Given the description of an element on the screen output the (x, y) to click on. 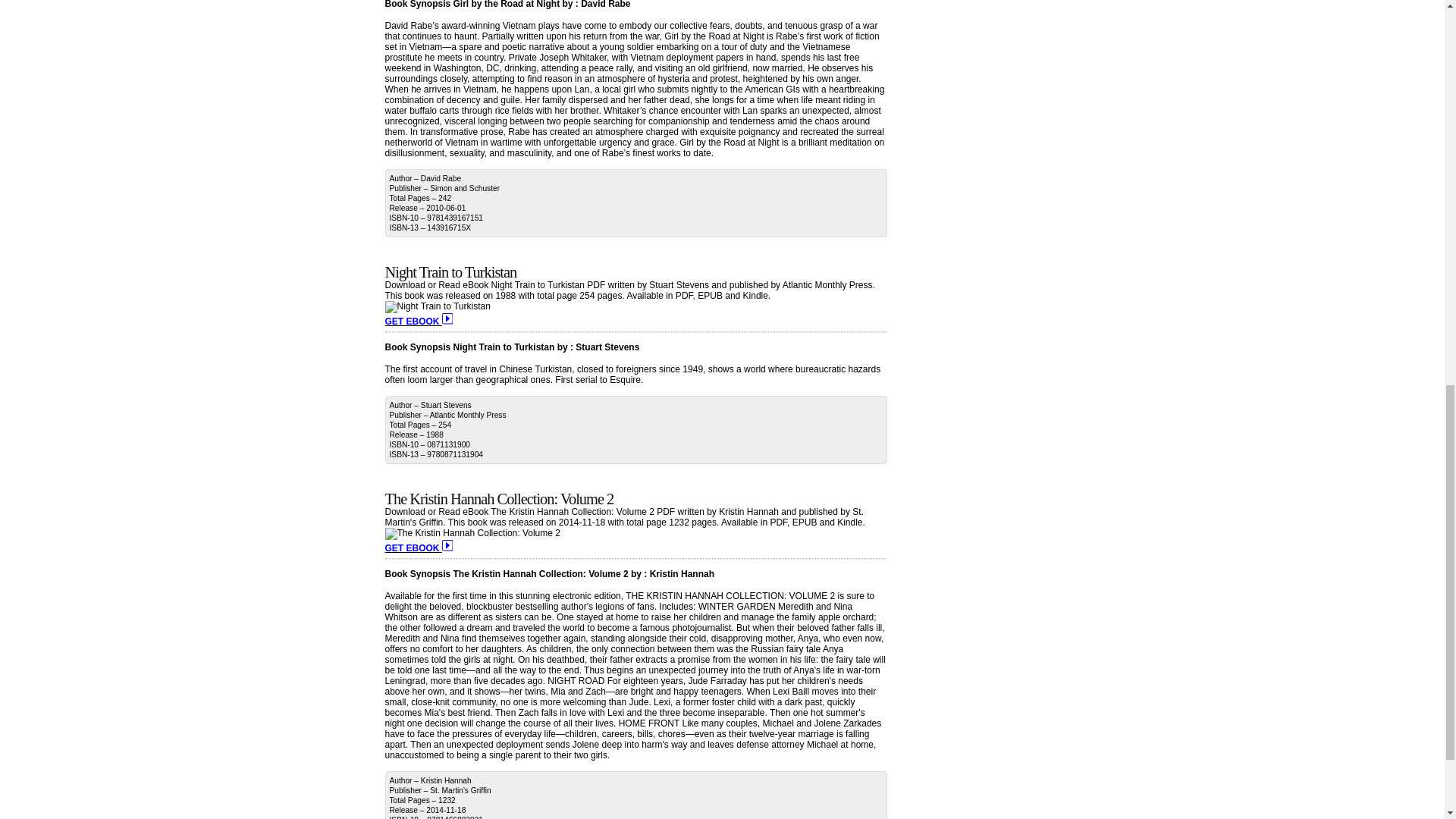
GET EBOOK (418, 321)
Night Train to Turkistan (450, 271)
The Kristin Hannah Collection: Volume 2 (499, 498)
GET EBOOK (418, 547)
